Given the description of an element on the screen output the (x, y) to click on. 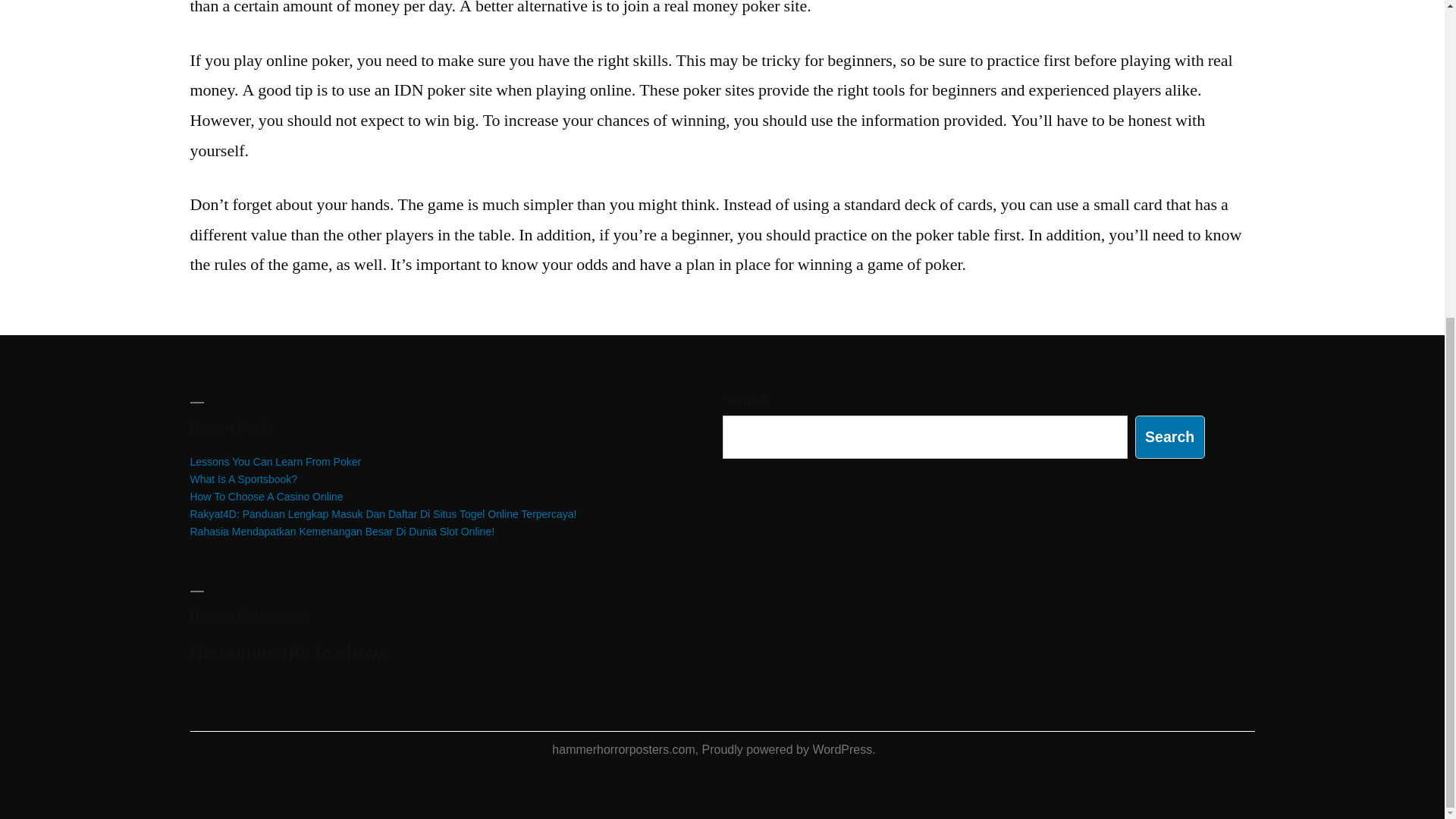
hammerhorrorposters.com (623, 748)
Lessons You Can Learn From Poker (275, 461)
How To Choose A Casino Online (265, 496)
Proudly powered by WordPress. (788, 748)
What Is A Sportsbook? (243, 479)
Rahasia Mendapatkan Kemenangan Besar Di Dunia Slot Online! (342, 531)
Search (1170, 436)
